Given the description of an element on the screen output the (x, y) to click on. 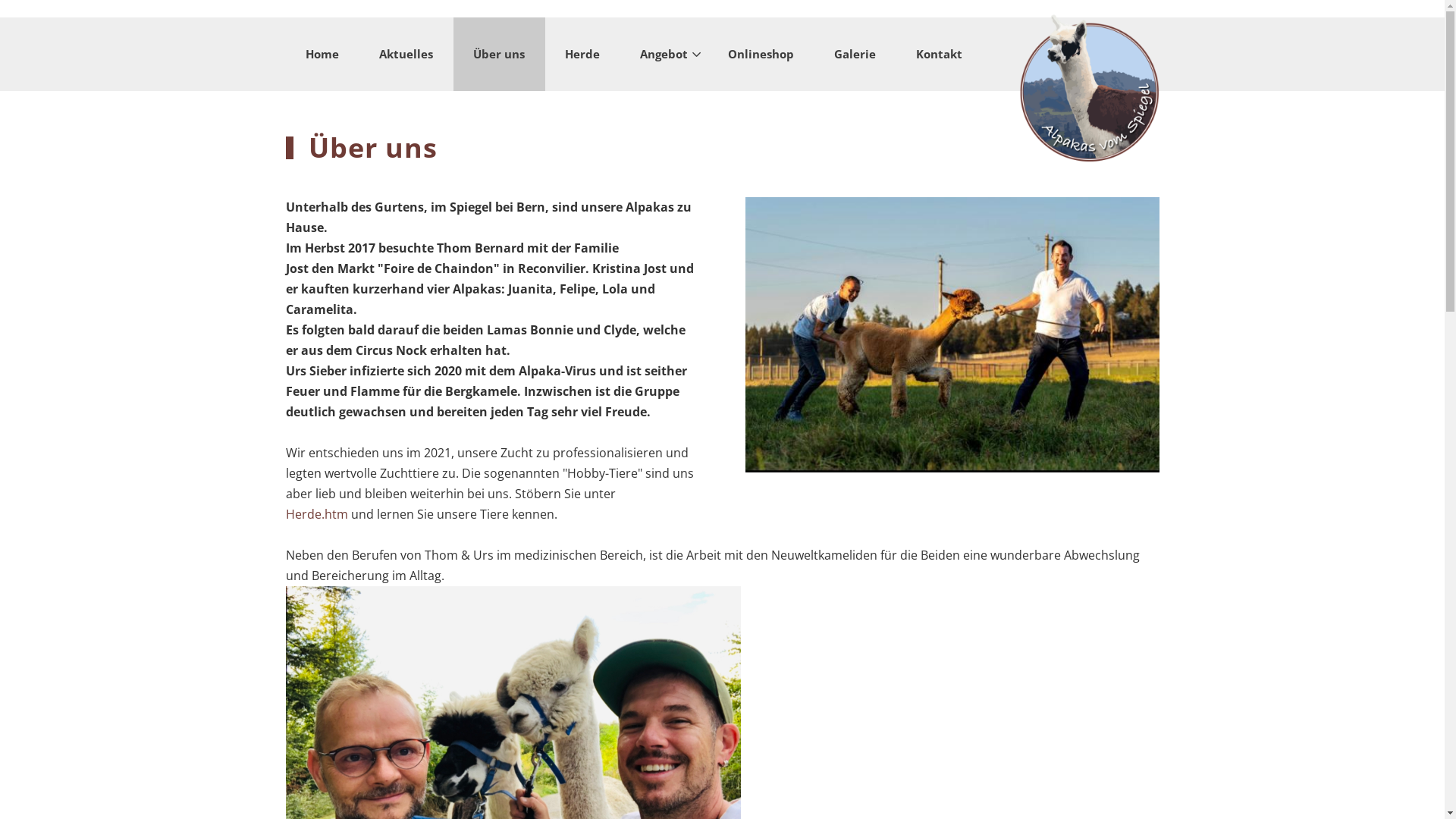
Kontakt Element type: text (939, 53)
Onlineshop Element type: text (760, 53)
Aktuelles Element type: text (406, 53)
Galerie Element type: text (854, 53)
Herde Element type: text (581, 53)
Home Element type: text (321, 53)
Angebot Element type: text (663, 53)
Herde.htm Element type: text (316, 513)
